Given the description of an element on the screen output the (x, y) to click on. 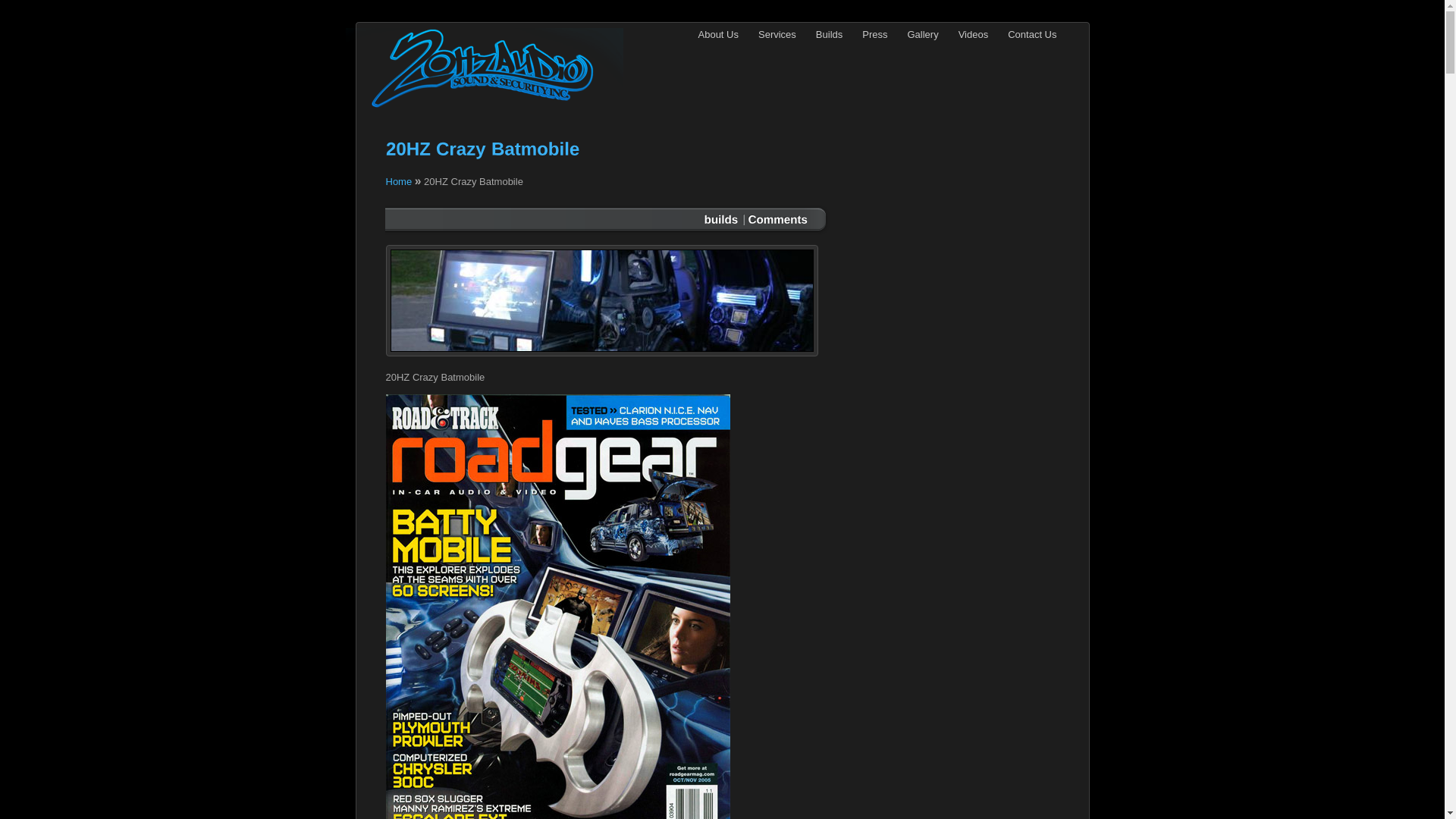
Videos Element type: text (973, 34)
Contact Us Element type: text (1031, 34)
Builds Element type: text (829, 34)
Press Element type: text (874, 34)
About Us Element type: text (718, 34)
Services Element type: text (777, 34)
Home Element type: text (398, 181)
Gallery Element type: text (922, 34)
